Given the description of an element on the screen output the (x, y) to click on. 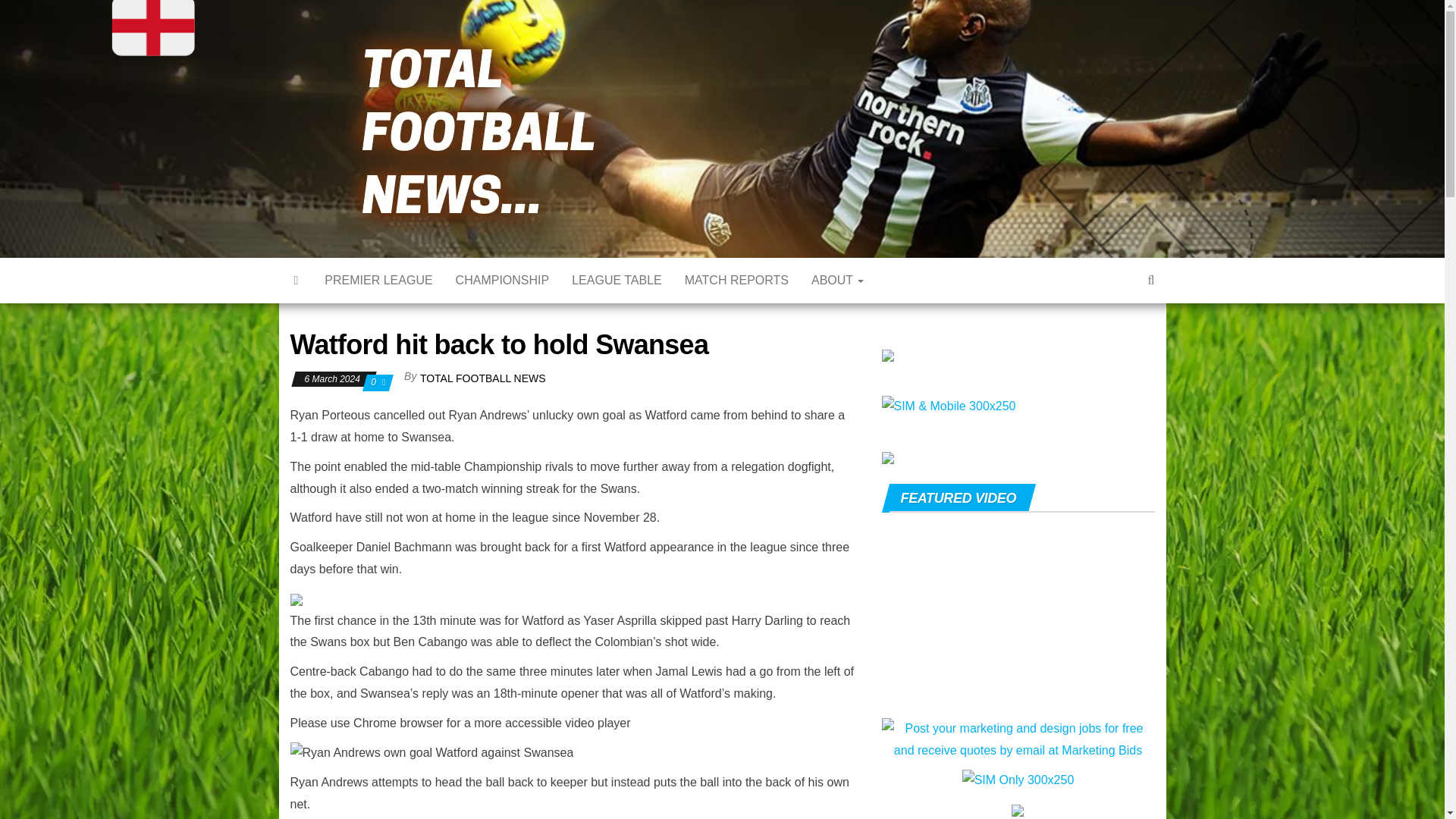
League Table (616, 280)
TOTAL FOOTBALL NEWS (483, 378)
LEAGUE TABLE (616, 280)
MATCH REPORTS (735, 280)
Total Football News (699, 64)
Premier League (378, 280)
CHAMPIONSHIP (502, 280)
About (837, 280)
ABOUT (837, 280)
Championship (502, 280)
